Given the description of an element on the screen output the (x, y) to click on. 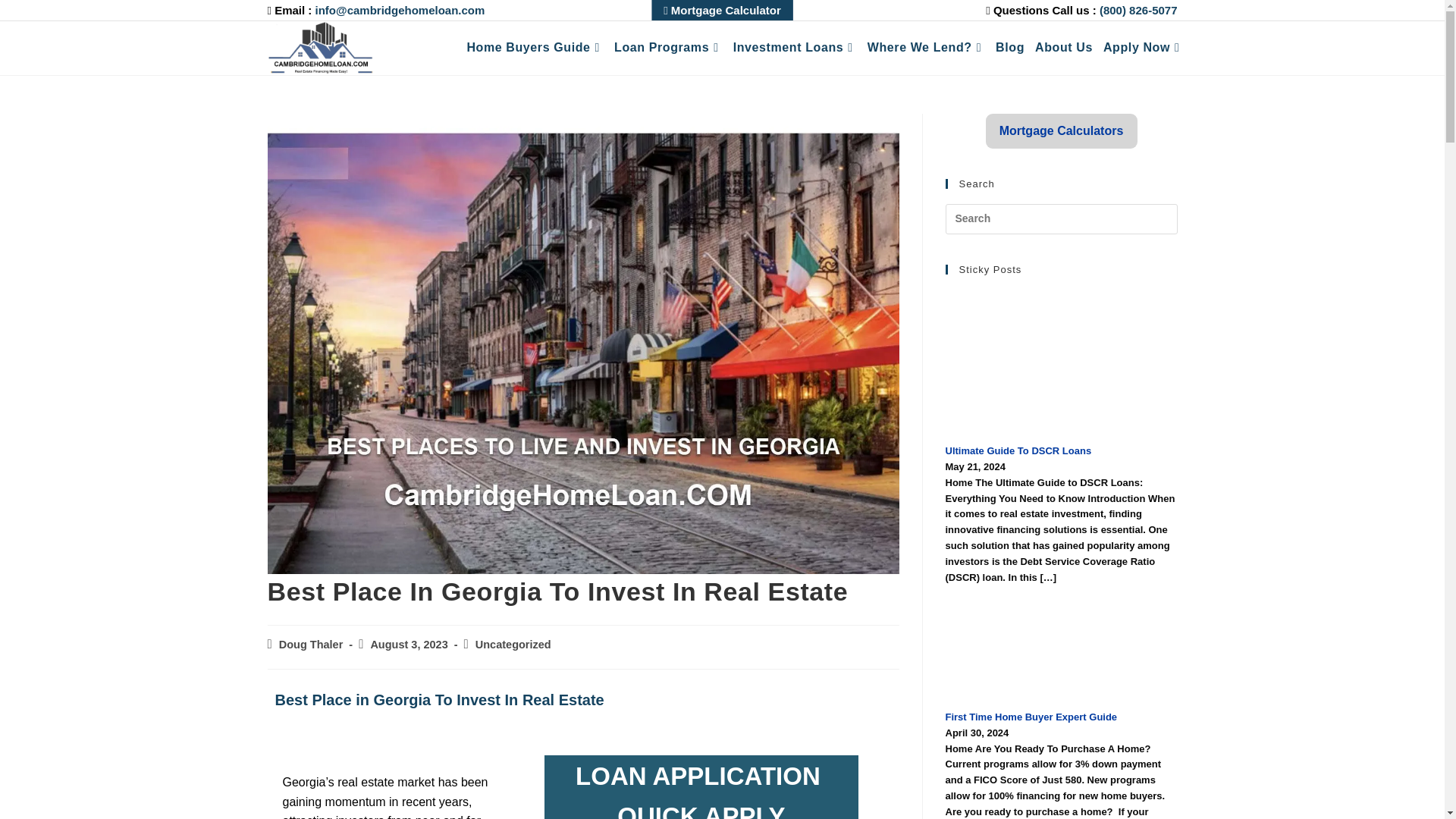
Investment Loans (794, 47)
Posts by Doug Thaler (311, 644)
Home Buyers Guide (534, 47)
Loan Programs (668, 47)
Ultimate Guide To DSCR Loans (1060, 364)
Mortgage Calculator (721, 10)
